Given the description of an element on the screen output the (x, y) to click on. 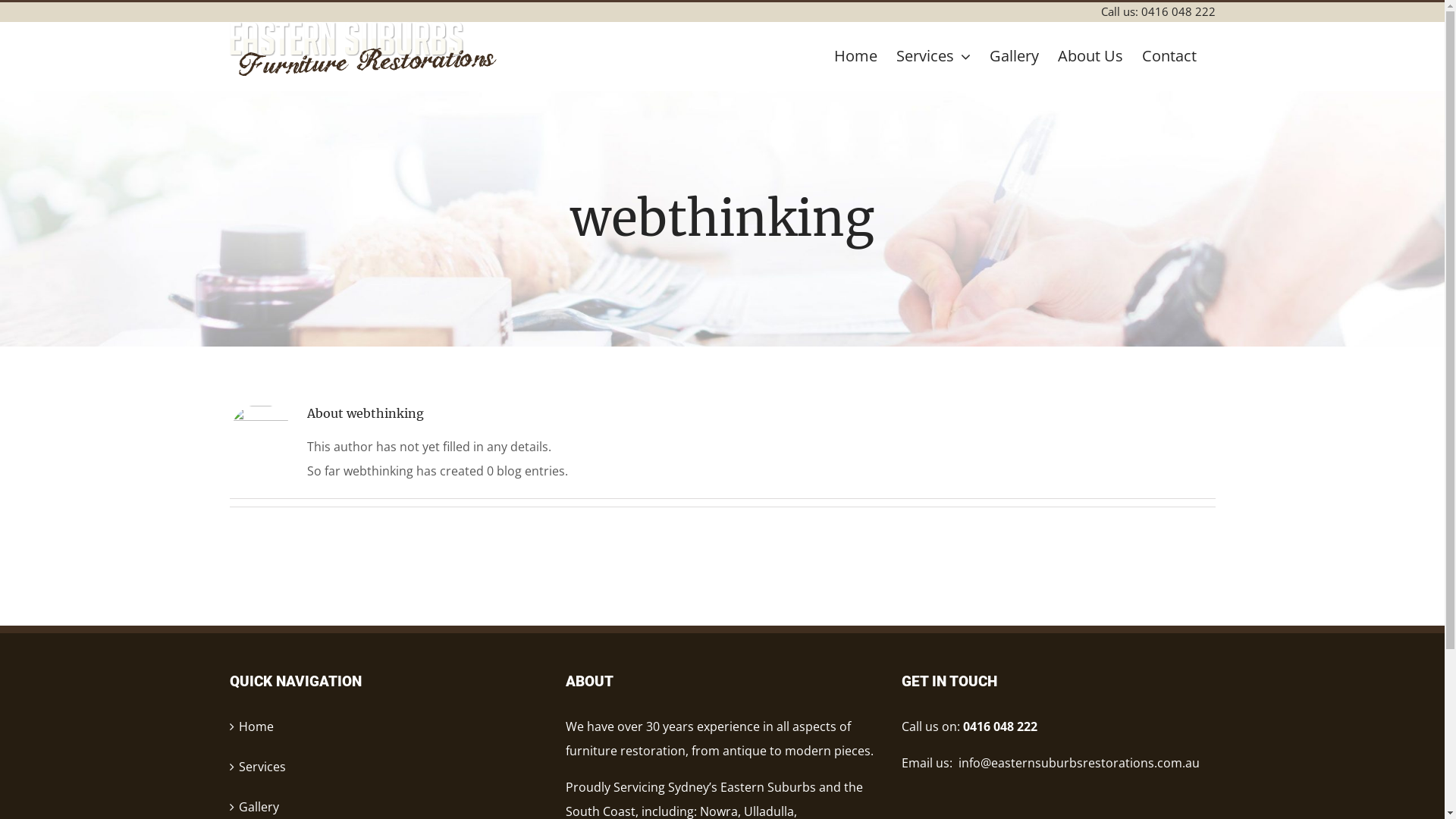
info@easternsuburbsrestorations.com.au Element type: text (1078, 762)
0416 048 222 Element type: text (1000, 726)
0416 048 222 Element type: text (1177, 10)
Home Element type: text (386, 726)
Home Element type: text (855, 55)
Services Element type: text (386, 766)
About Us Element type: text (1089, 55)
Services Element type: text (933, 55)
Gallery Element type: text (1013, 55)
Contact Element type: text (1169, 55)
